Given the description of an element on the screen output the (x, y) to click on. 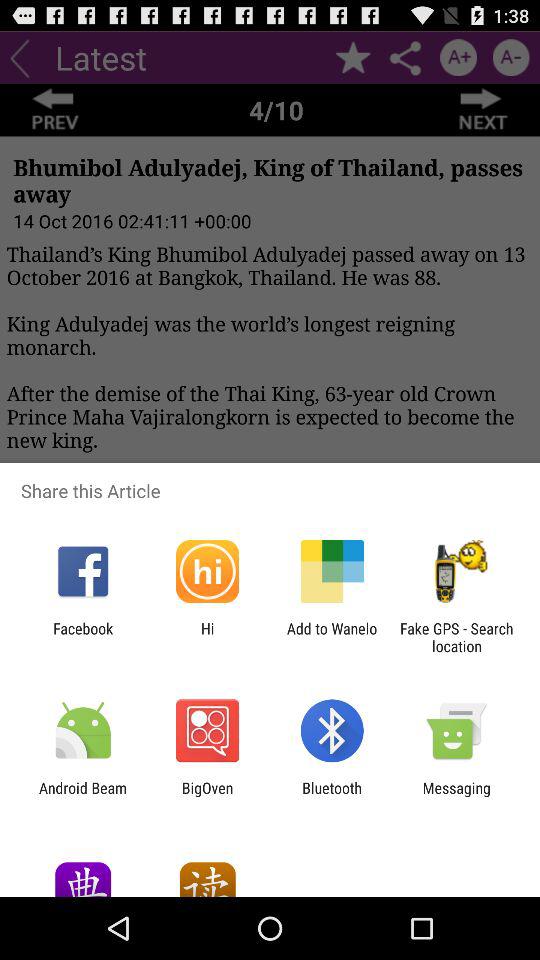
select icon to the right of add to wanelo app (456, 637)
